Given the description of an element on the screen output the (x, y) to click on. 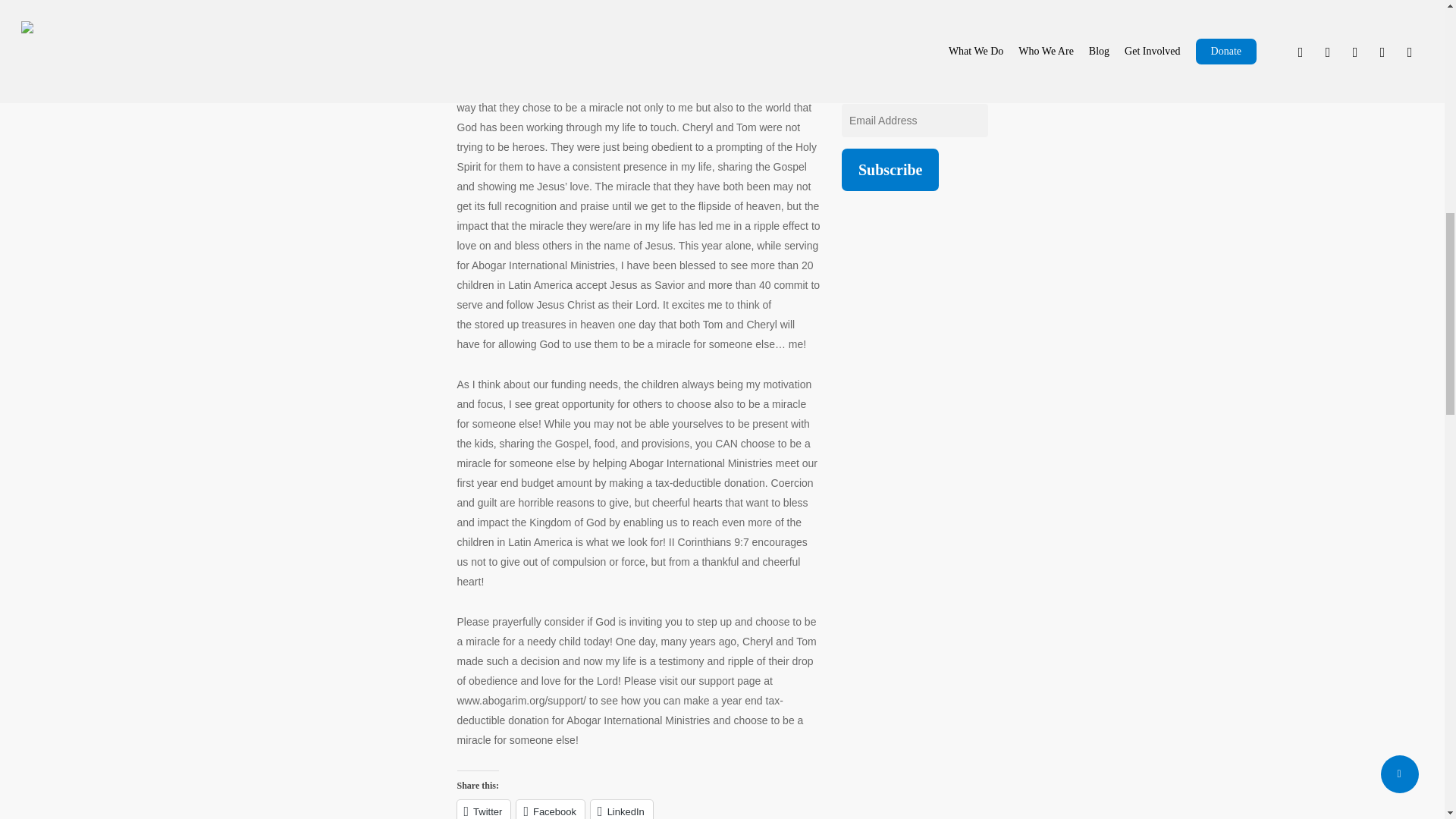
Click to share on LinkedIn (415, 232)
Twitter (277, 232)
Jesse Rivers (301, 387)
LinkedIn (415, 232)
Click to share on Facebook (344, 232)
Click to share on Twitter (277, 232)
Facebook (344, 232)
